Given the description of an element on the screen output the (x, y) to click on. 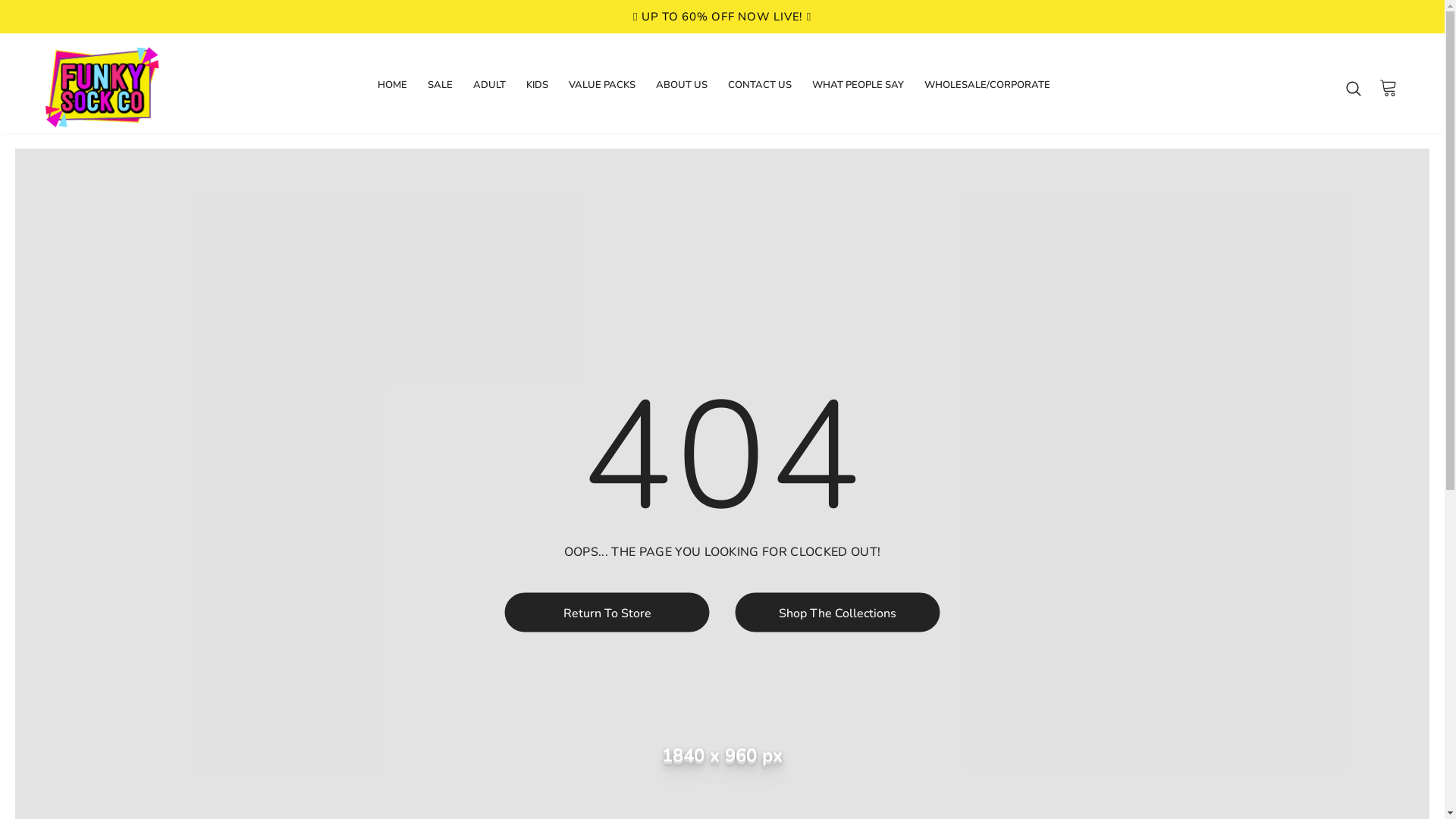
WHOLESALE/CORPORATE Element type: text (986, 88)
ADULT Element type: text (489, 88)
VALUE PACKS Element type: text (601, 88)
SALE Element type: text (439, 88)
Search Icon Element type: hover (1353, 87)
Return To Store Element type: text (607, 612)
HOME Element type: text (392, 88)
Cart Icon Element type: hover (1388, 87)
ABOUT US Element type: text (680, 88)
WHAT PEOPLE SAY Element type: text (857, 88)
Logo Element type: hover (134, 87)
Shop The Collections Element type: text (837, 612)
KIDS Element type: text (537, 88)
CONTACT US Element type: text (759, 88)
